Given the description of an element on the screen output the (x, y) to click on. 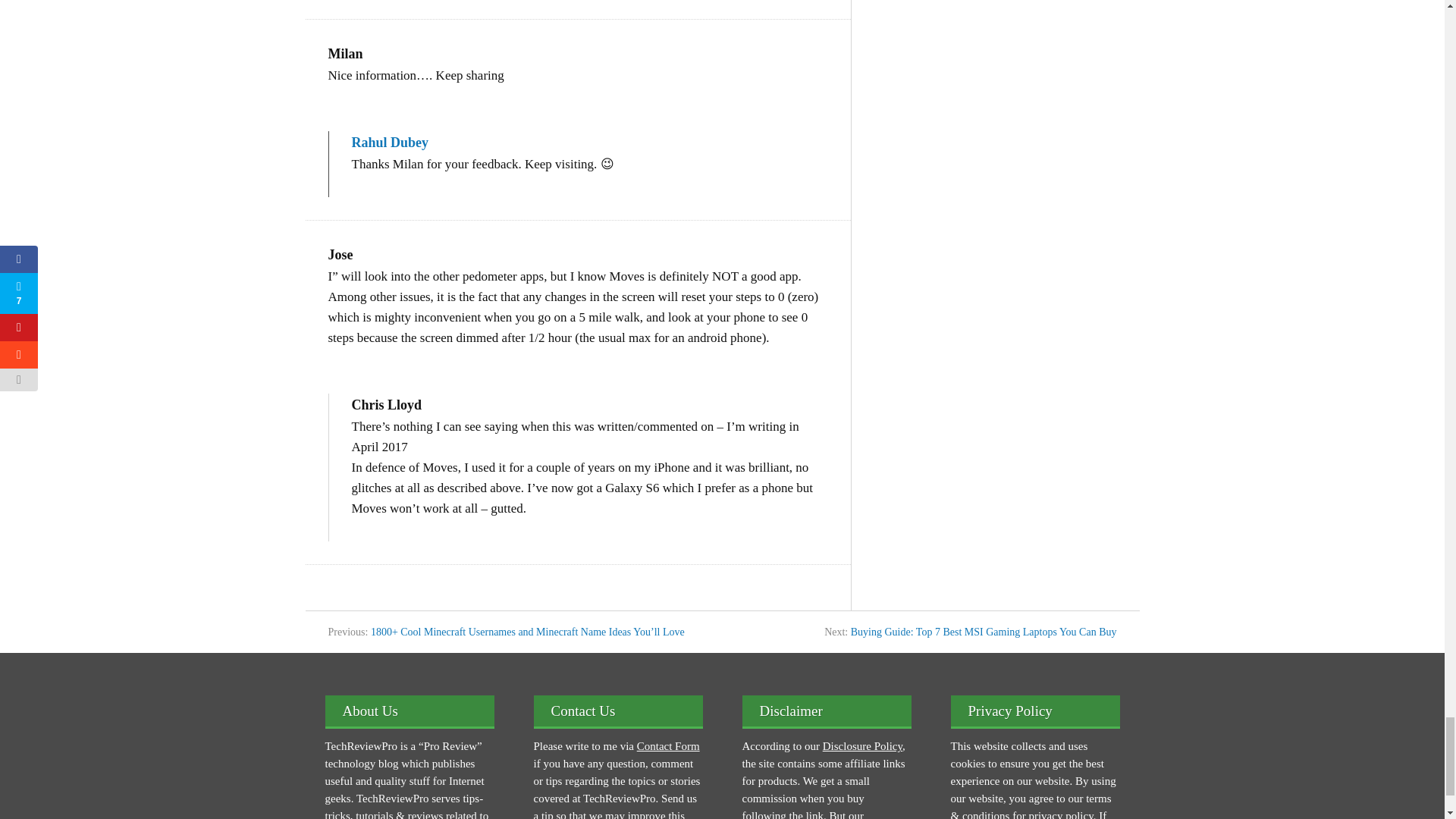
Privacy Policy (1060, 814)
